Given the description of an element on the screen output the (x, y) to click on. 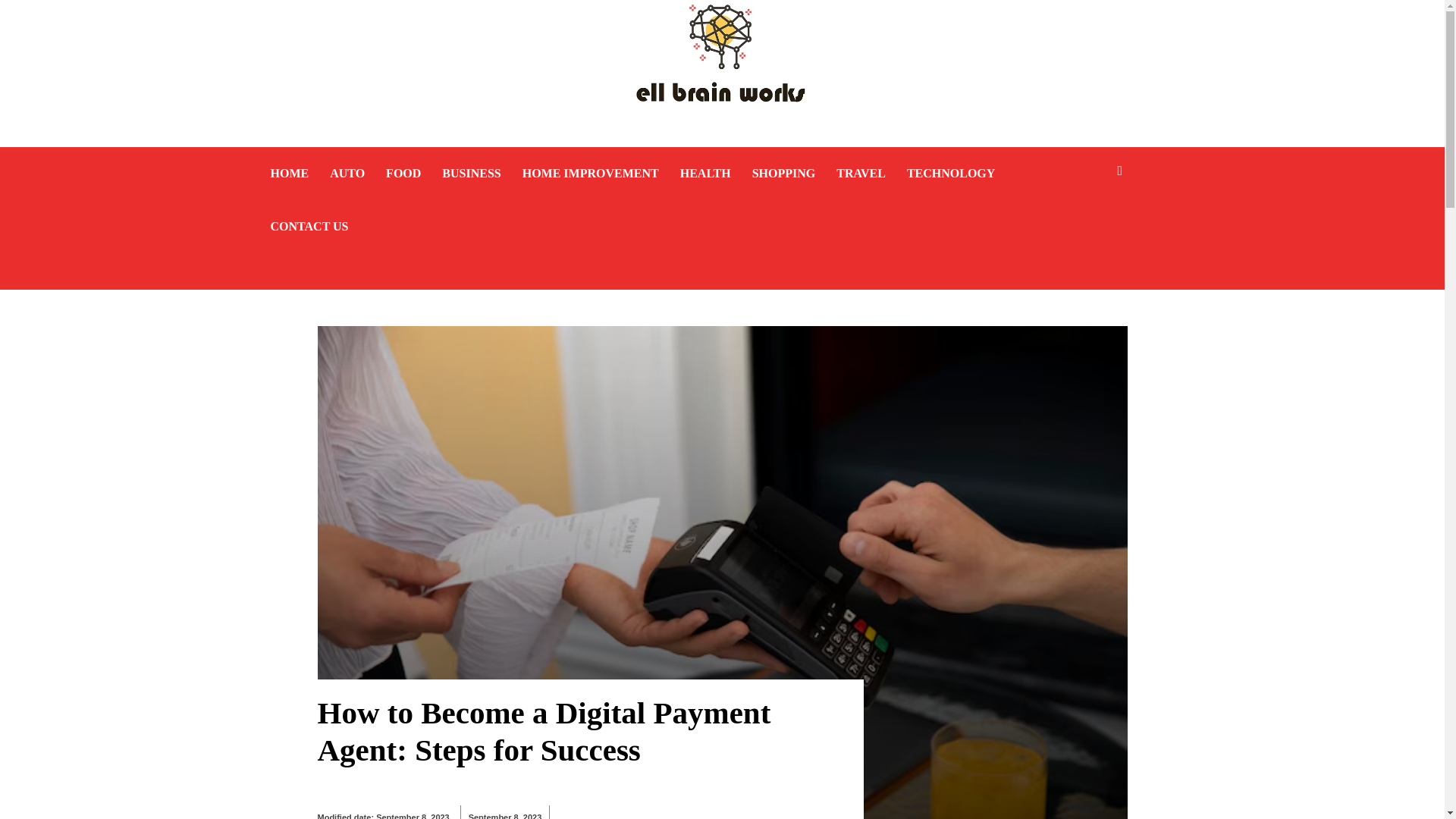
HOME IMPROVEMENT (590, 173)
BUSINESS (471, 173)
TRAVEL (860, 173)
SHOPPING (783, 173)
HEALTH (704, 173)
TECHNOLOGY (950, 173)
CONTACT US (308, 226)
